Given the description of an element on the screen output the (x, y) to click on. 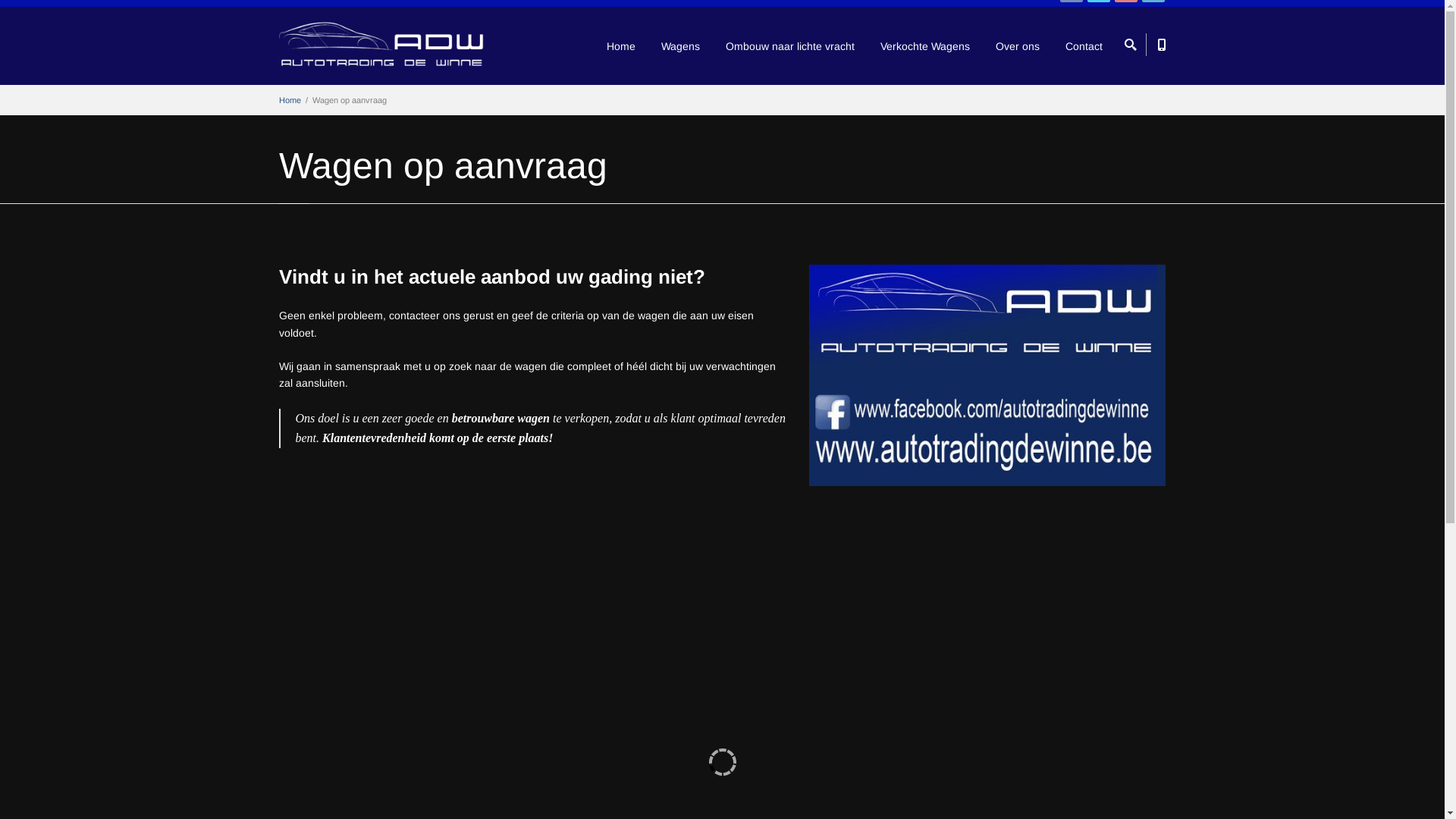
Over ons Element type: text (1016, 45)
Ombouw naar lichte vracht Element type: text (789, 45)
Home Element type: text (290, 99)
Verkochte Wagens Element type: text (924, 45)
Wagens Element type: text (680, 45)
Home Element type: text (621, 45)
Contact Element type: text (1083, 45)
